Given the description of an element on the screen output the (x, y) to click on. 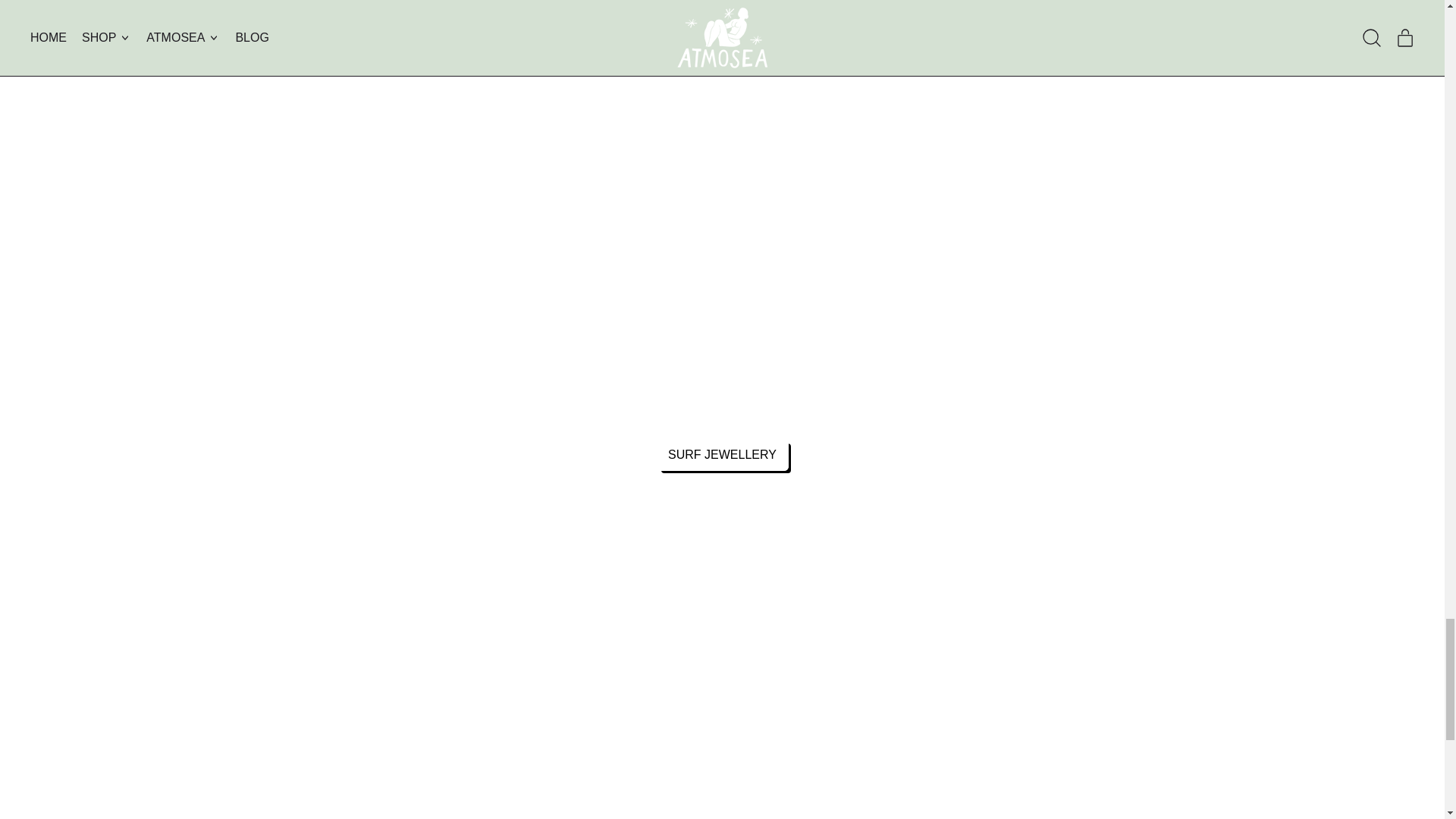
SURF JEWELLERY (722, 454)
